Given the description of an element on the screen output the (x, y) to click on. 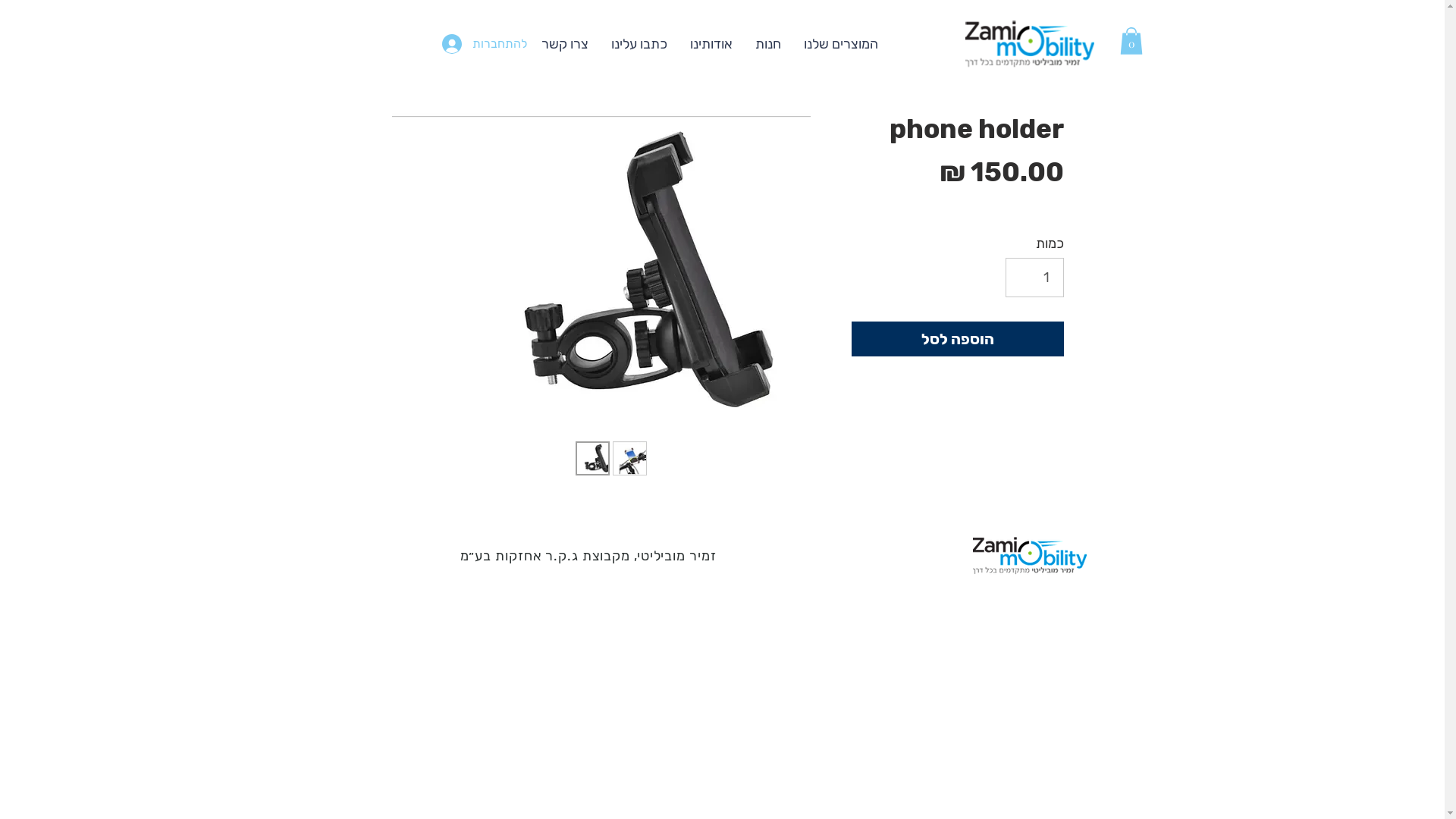
0 Element type: text (1130, 40)
